Given the description of an element on the screen output the (x, y) to click on. 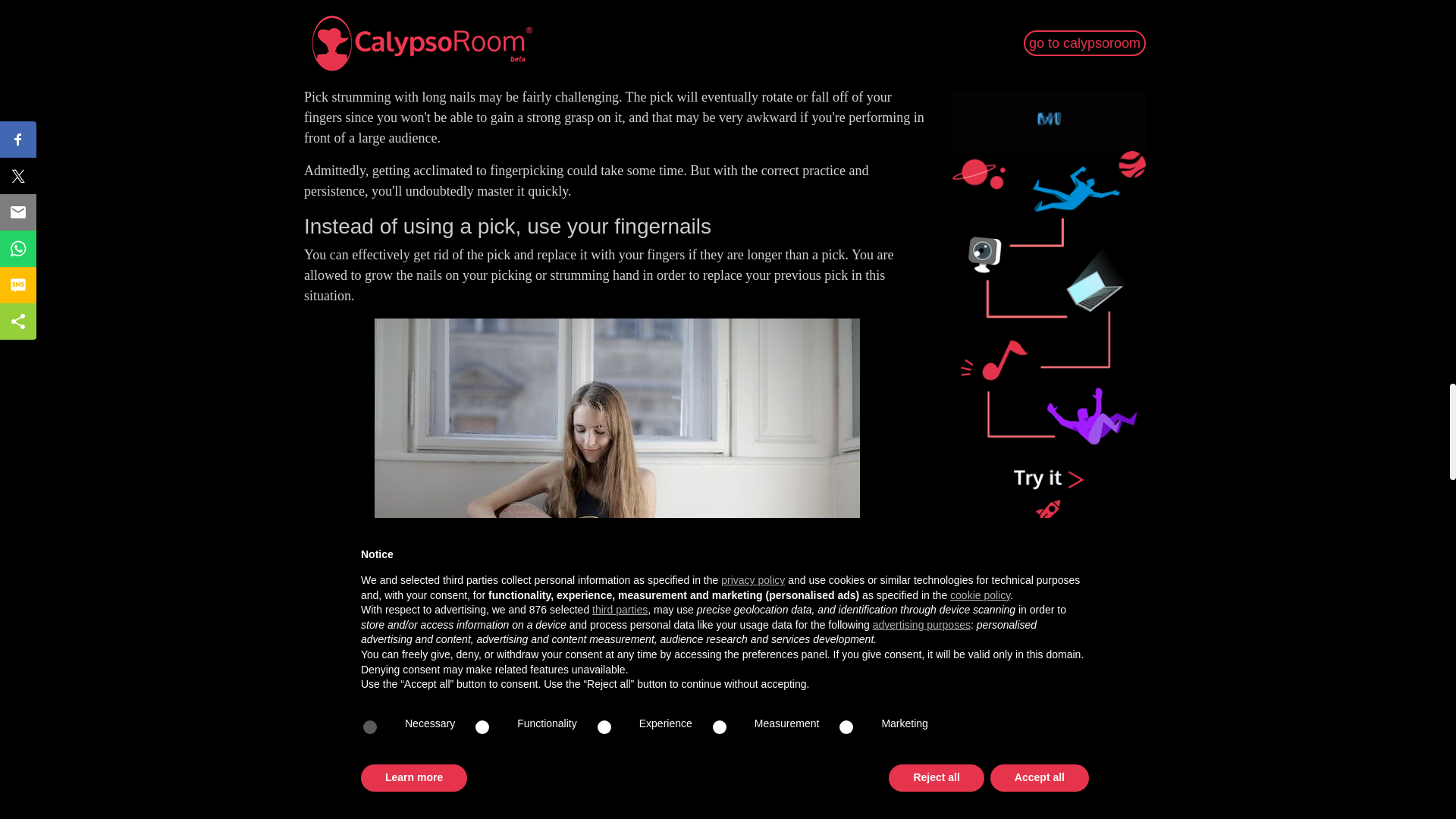
YouTube video player (617, 34)
